Given the description of an element on the screen output the (x, y) to click on. 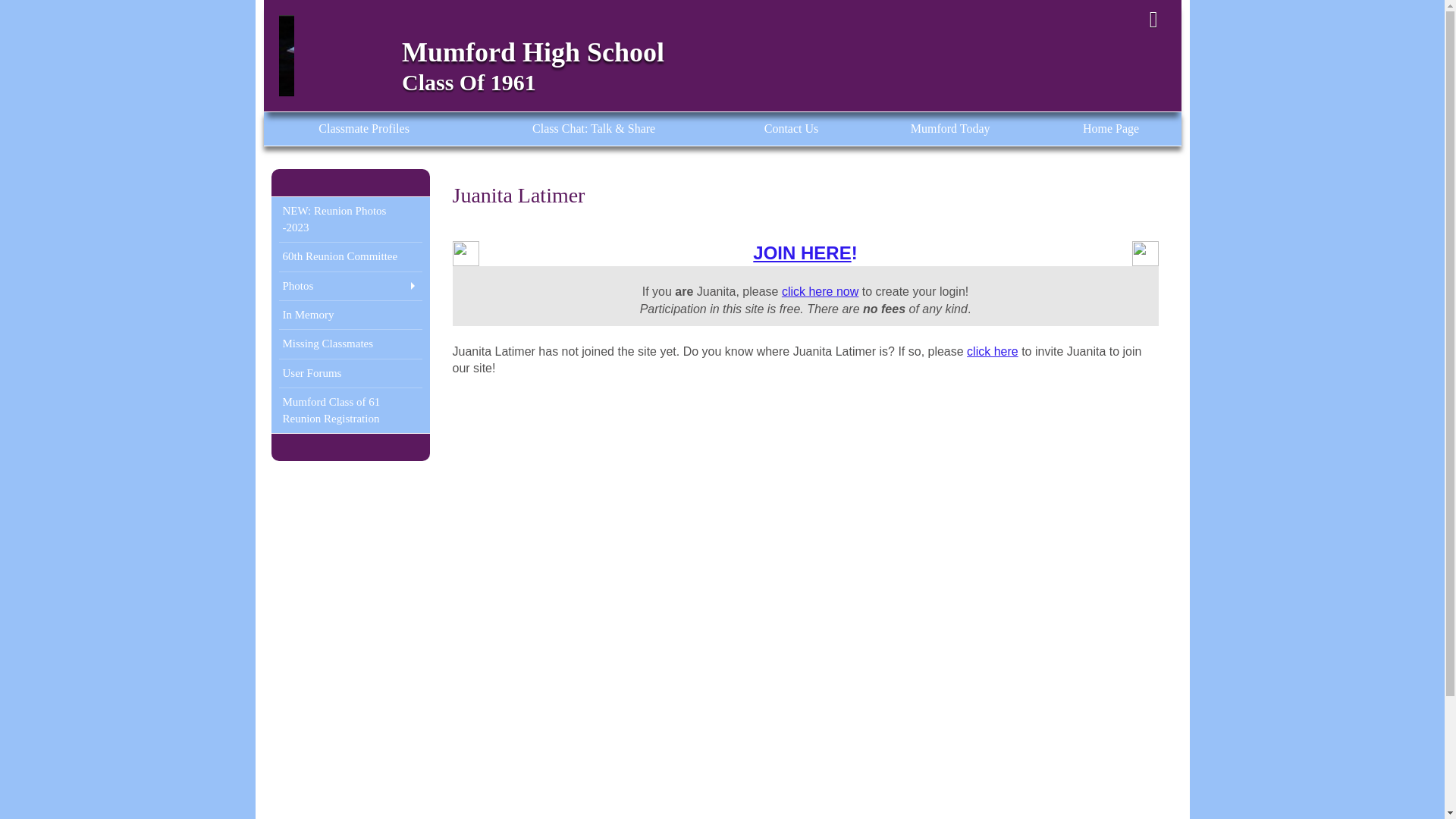
Photos (350, 286)
Classmate Login (1153, 20)
Mumford Today (950, 128)
JOIN HERE! (804, 252)
60th Reunion Committee (350, 256)
In Memory (350, 314)
Contact Us (790, 128)
Mumford Class of 61 Reunion Registration (350, 410)
NEW: Reunion Photos -2023 (350, 219)
click here now (820, 291)
